Given the description of an element on the screen output the (x, y) to click on. 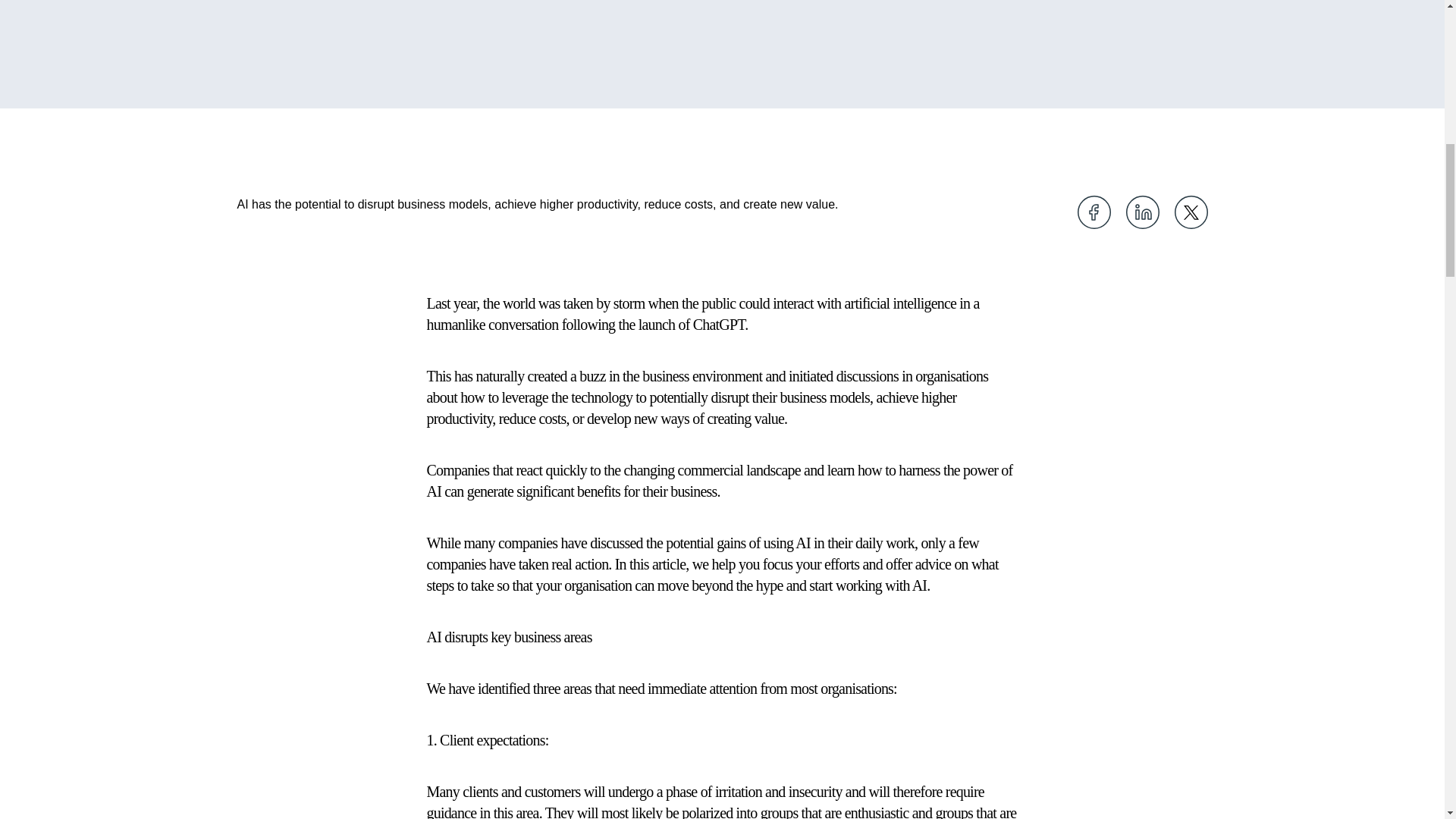
facebook (1093, 212)
linkedin (1141, 212)
twitter (1190, 212)
